Given the description of an element on the screen output the (x, y) to click on. 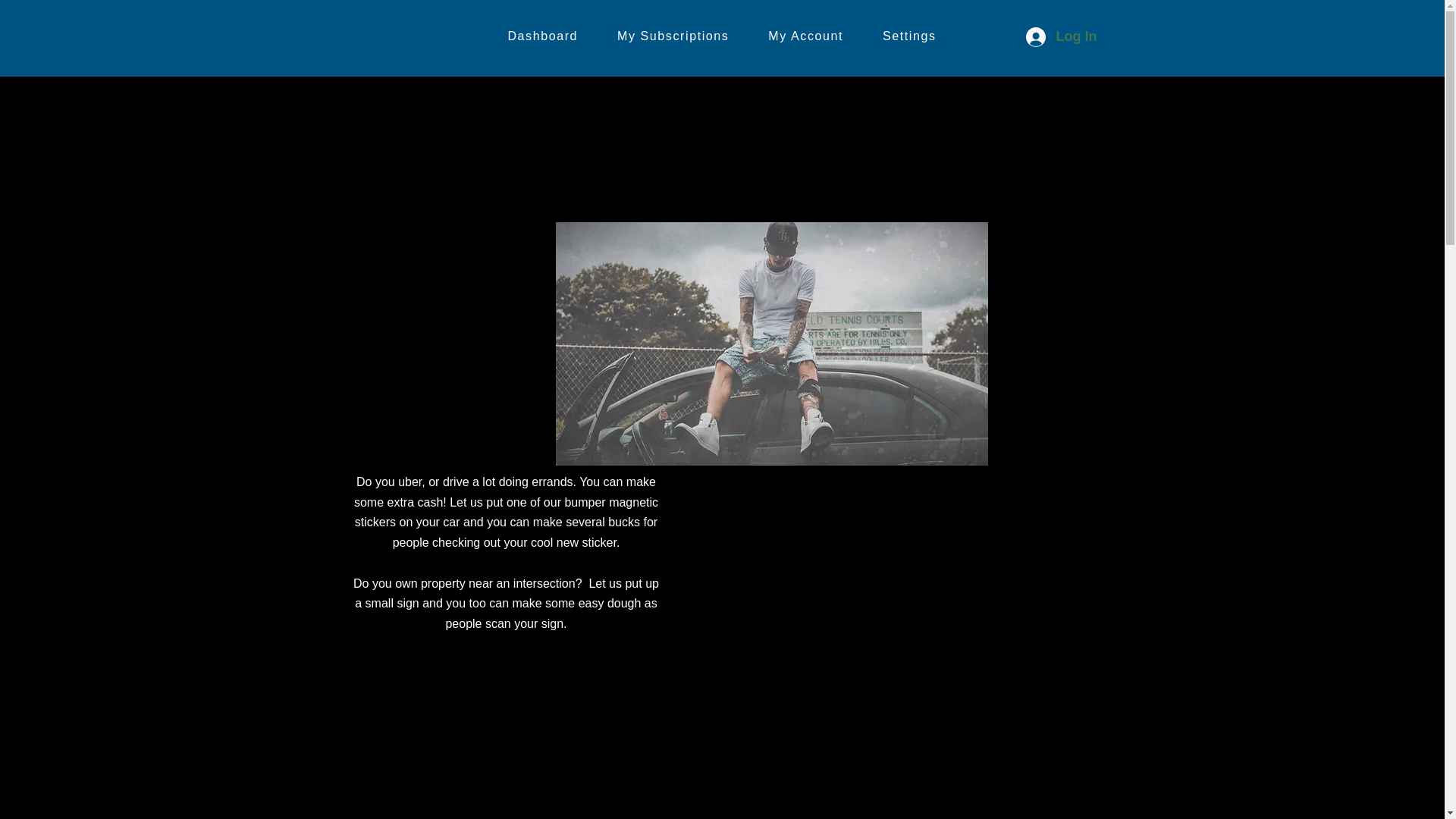
Dashboard (543, 36)
Settings (909, 36)
My Subscriptions (722, 36)
My Account (672, 36)
Log In (805, 36)
